Given the description of an element on the screen output the (x, y) to click on. 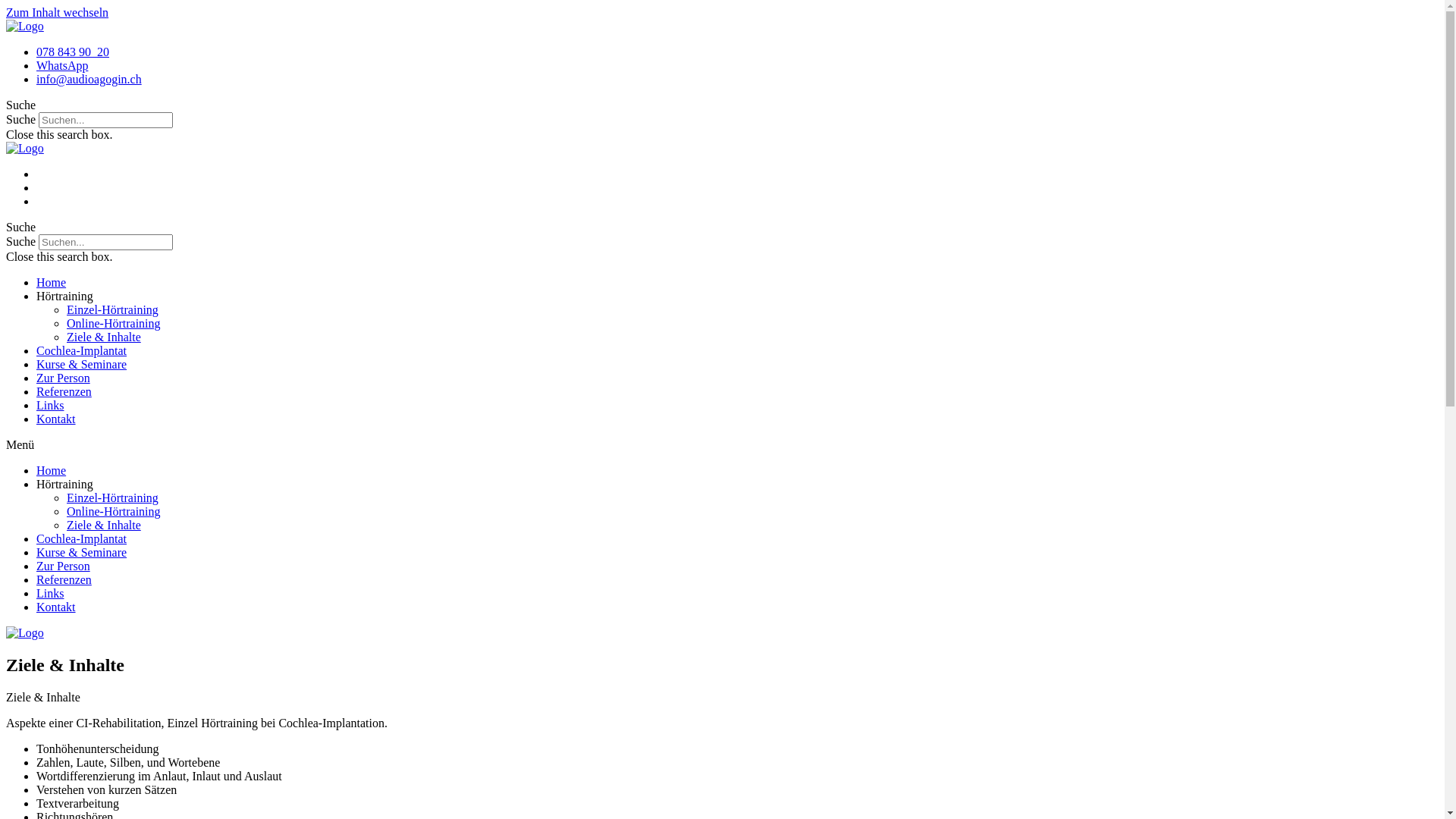
Home Element type: text (50, 470)
Zur Person Element type: text (63, 565)
Zum Inhalt wechseln Element type: text (57, 12)
Zur Person Element type: text (63, 377)
Kurse & Seminare Element type: text (81, 552)
Kontakt Element type: text (55, 418)
Kurse & Seminare Element type: text (81, 363)
078 843 90  20 Element type: text (72, 51)
info@audioagogin.ch Element type: text (88, 78)
Cochlea-Implantat Element type: text (81, 538)
Referenzen Element type: text (63, 579)
Ziele & Inhalte Element type: text (103, 524)
Kontakt Element type: text (55, 606)
Referenzen Element type: text (63, 391)
Cochlea-Implantat Element type: text (81, 350)
Home Element type: text (50, 282)
Links Element type: text (49, 592)
Ziele & Inhalte Element type: text (103, 336)
WhatsApp Element type: text (61, 65)
Links Element type: text (49, 404)
